Given the description of an element on the screen output the (x, y) to click on. 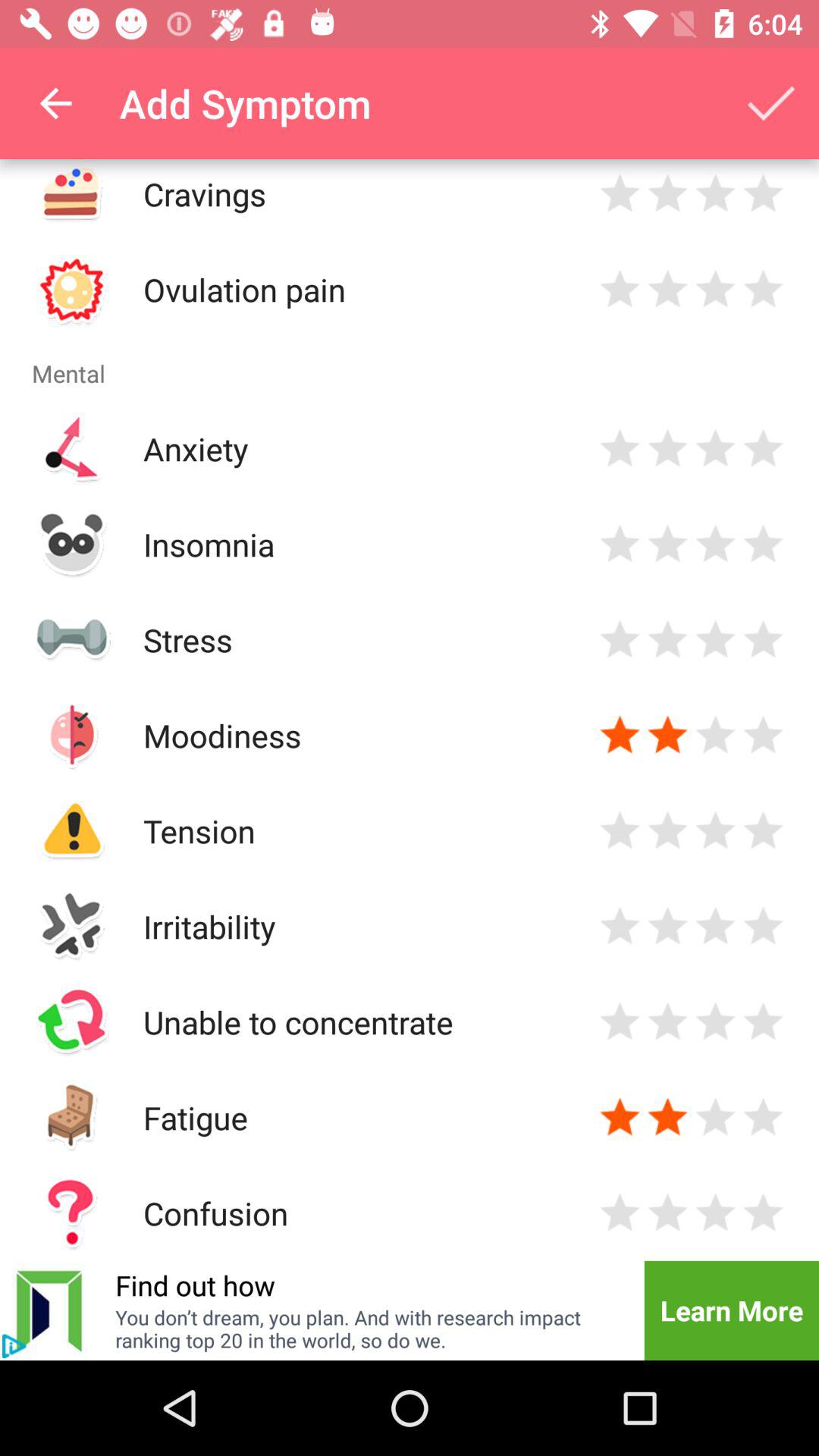
rate tension (619, 830)
